Given the description of an element on the screen output the (x, y) to click on. 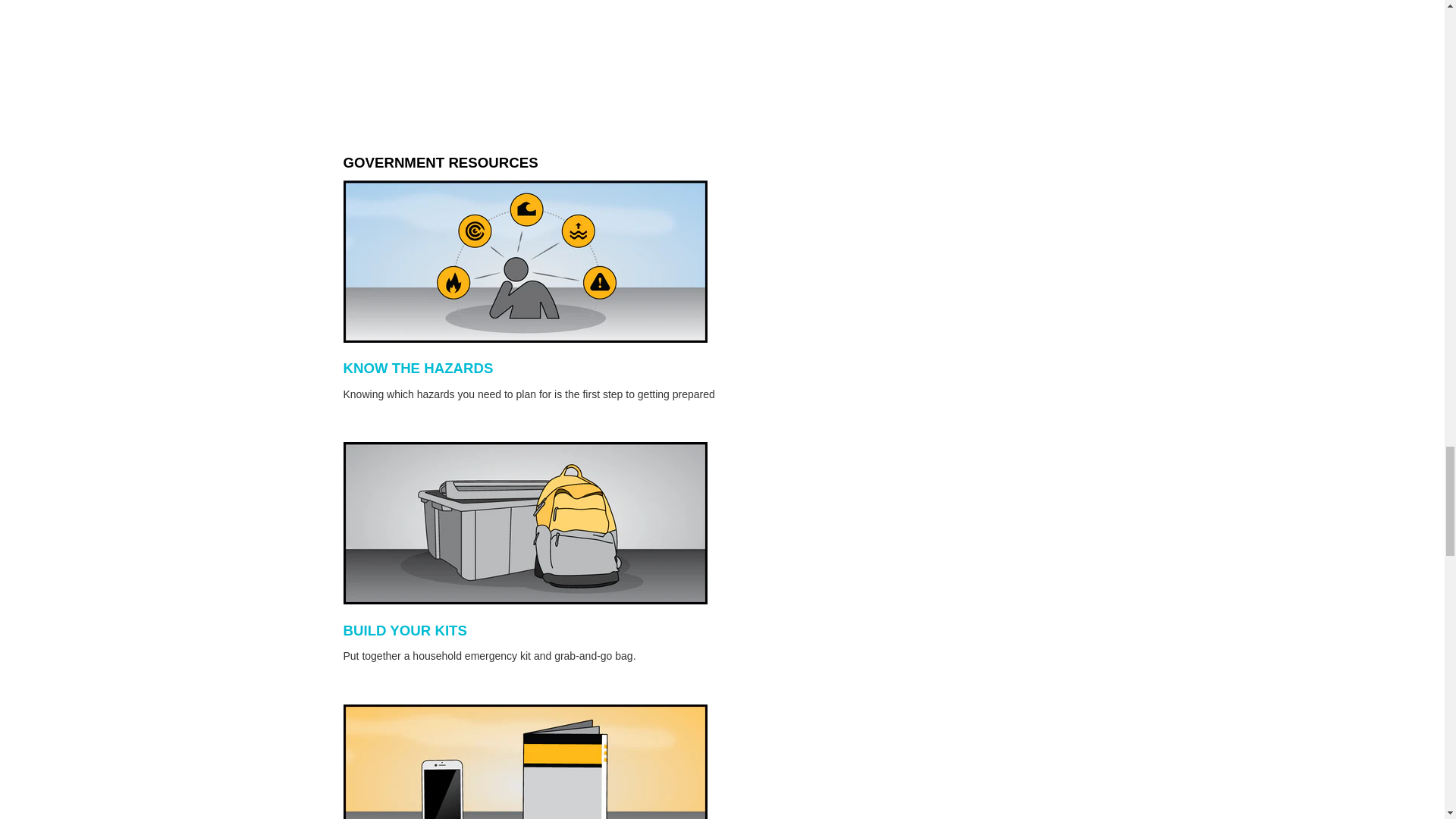
BUILD YOUR KITS (403, 630)
Know the Hazards (417, 367)
Build Your Kits (403, 630)
KNOW THE HAZARDS (417, 367)
YouTube video player (591, 50)
